Given the description of an element on the screen output the (x, y) to click on. 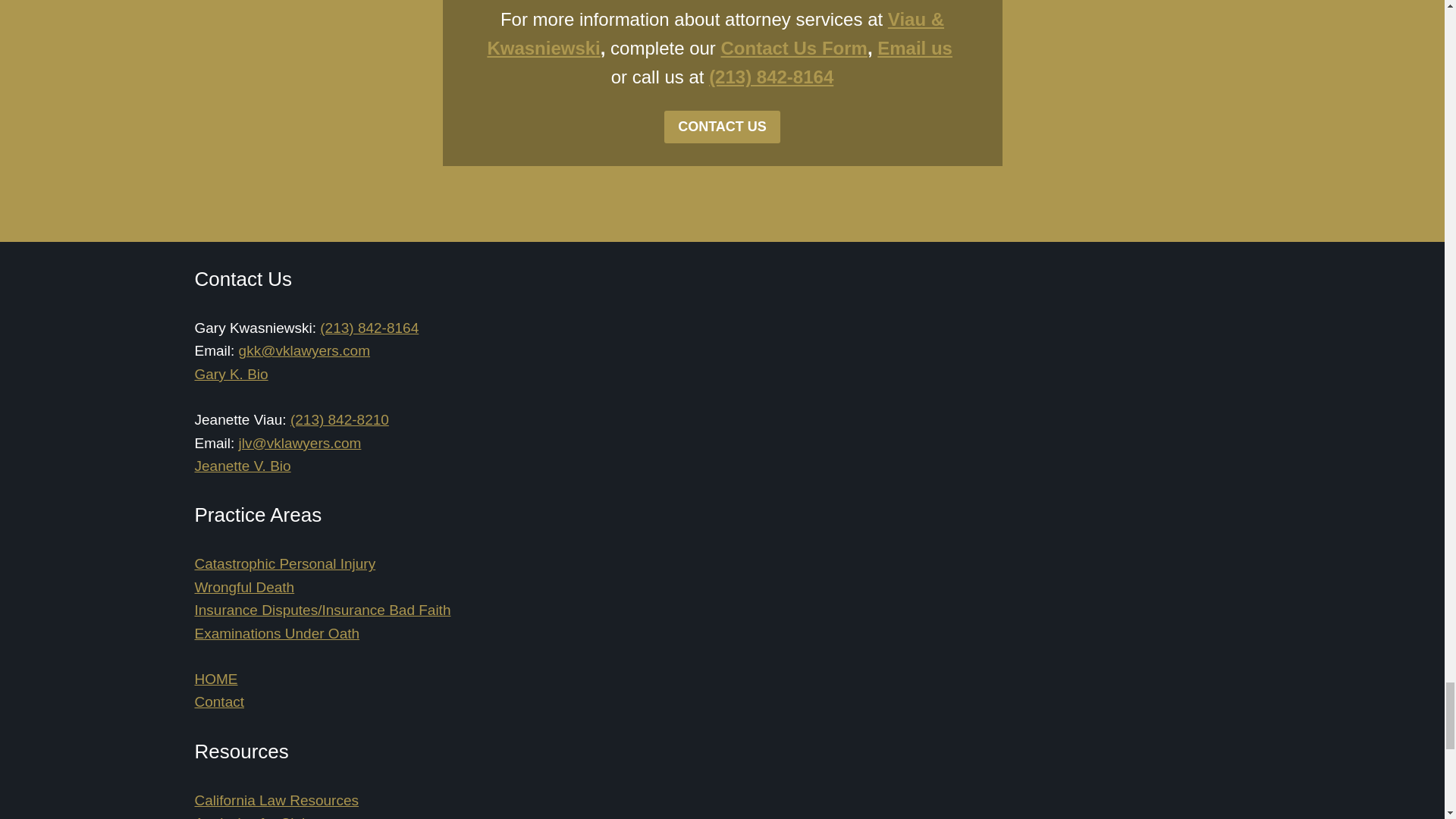
Email us (914, 47)
Contact Us Form (793, 47)
CONTACT US (721, 126)
